Given the description of an element on the screen output the (x, y) to click on. 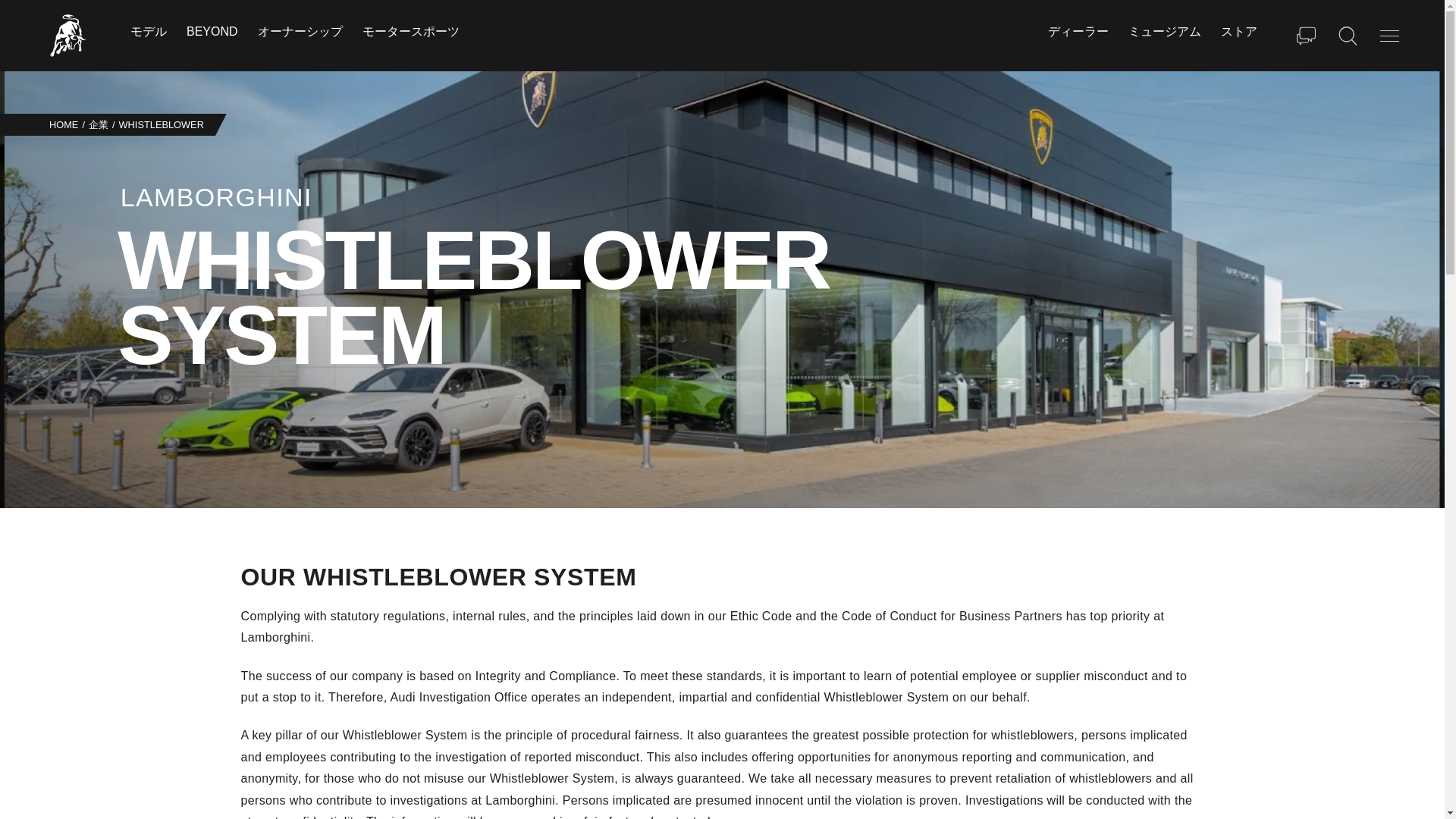
BEYOND (212, 31)
